Given the description of an element on the screen output the (x, y) to click on. 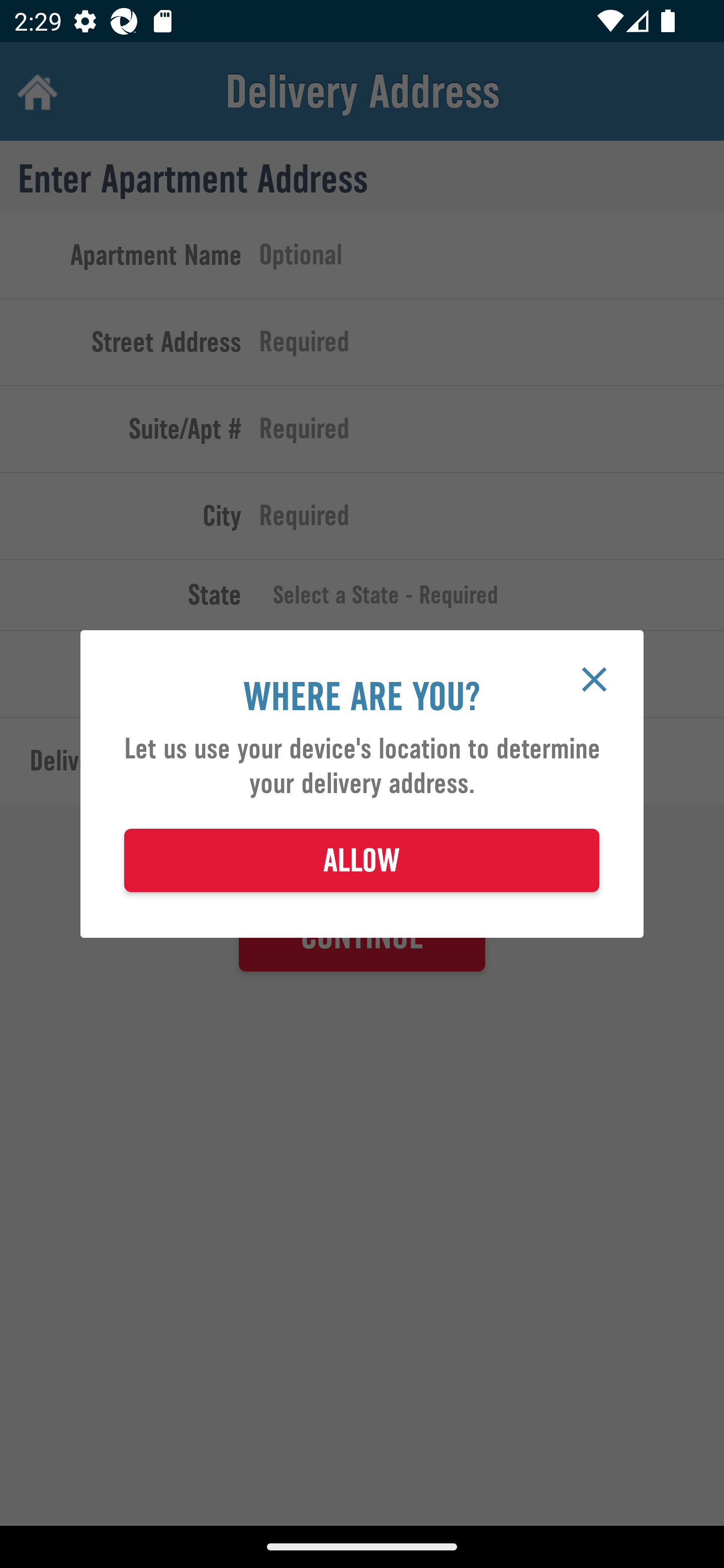
Close window (594, 679)
ALLOW (361, 860)
